Given the description of an element on the screen output the (x, y) to click on. 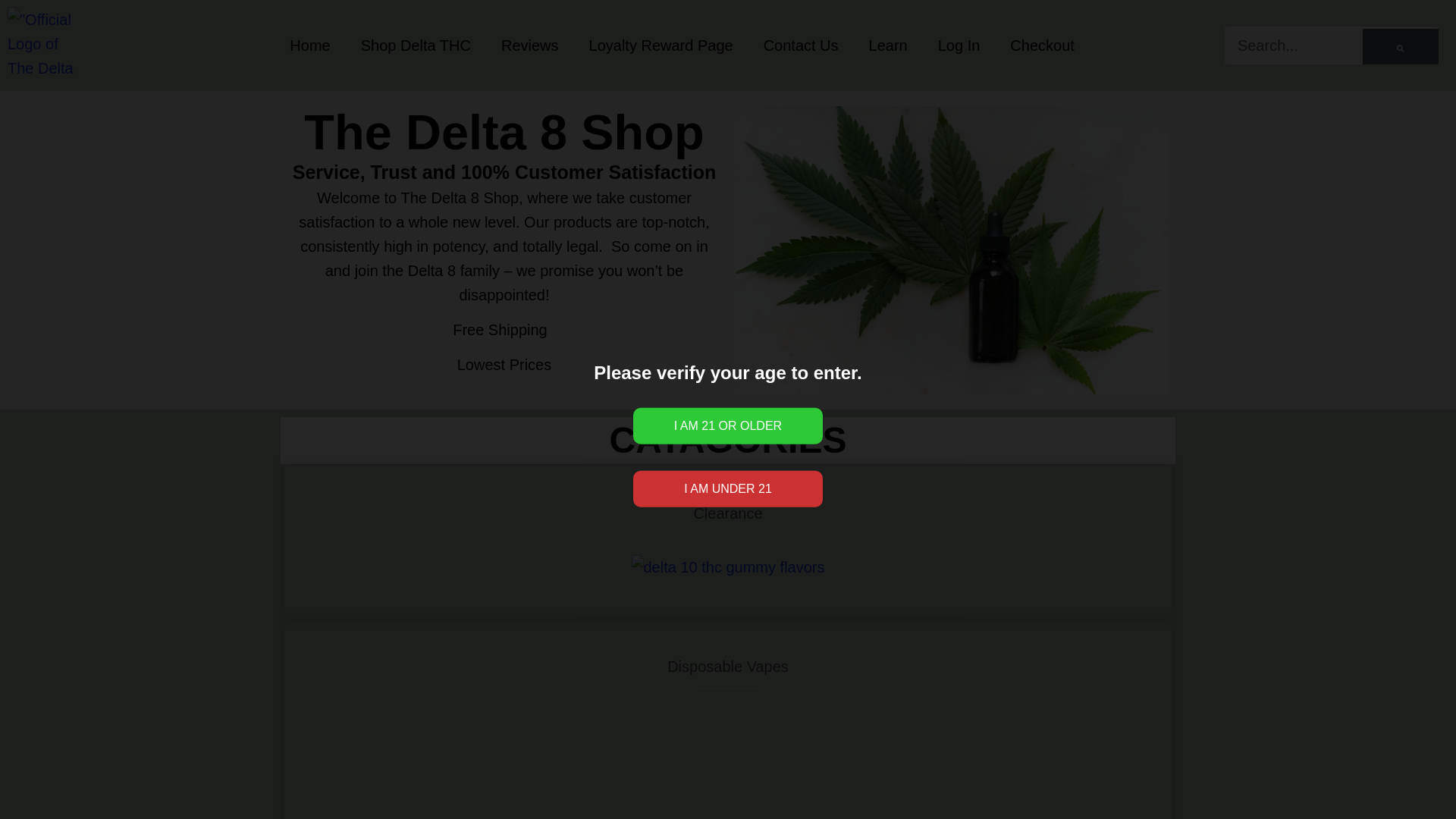
Loyalty Reward Page (660, 45)
Reviews (529, 45)
I am 21 or older (727, 425)
I am under 21 (727, 488)
Clearance (727, 513)
Contact Us (800, 45)
Shop Delta THC (416, 45)
Learn (888, 45)
Checkout (1041, 45)
Log In (959, 45)
